Given the description of an element on the screen output the (x, y) to click on. 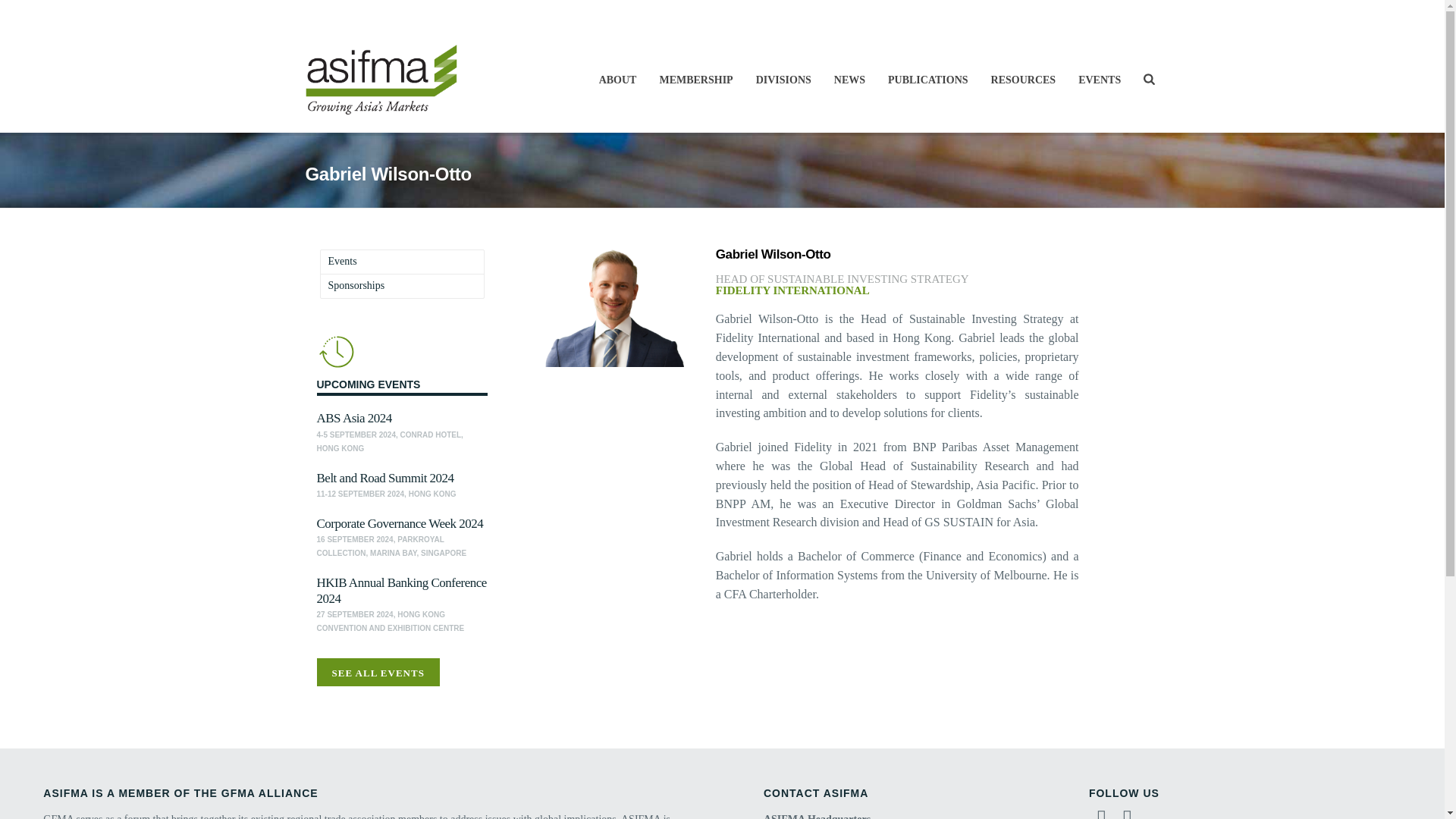
Sponsorships (355, 286)
RESOURCES (1023, 80)
MEMBERSHIP (695, 80)
Events (342, 261)
SEE ALL EVENTS (378, 672)
ABOUT (617, 80)
EVENTS (1099, 80)
PUBLICATIONS (927, 80)
RESOURCES (1023, 80)
EVENTS (1099, 80)
